Given the description of an element on the screen output the (x, y) to click on. 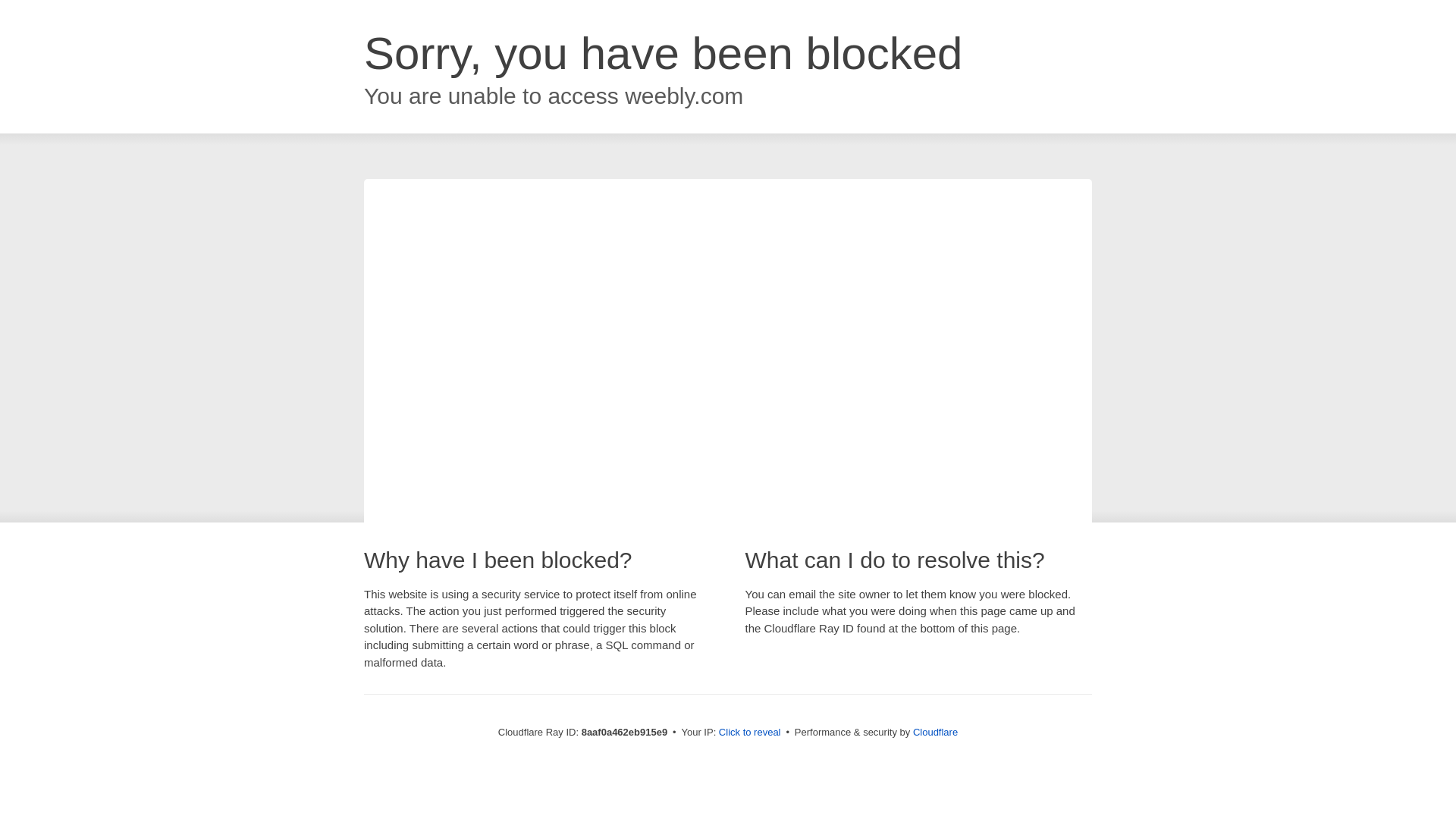
Cloudflare (935, 731)
Click to reveal (749, 732)
